Given the description of an element on the screen output the (x, y) to click on. 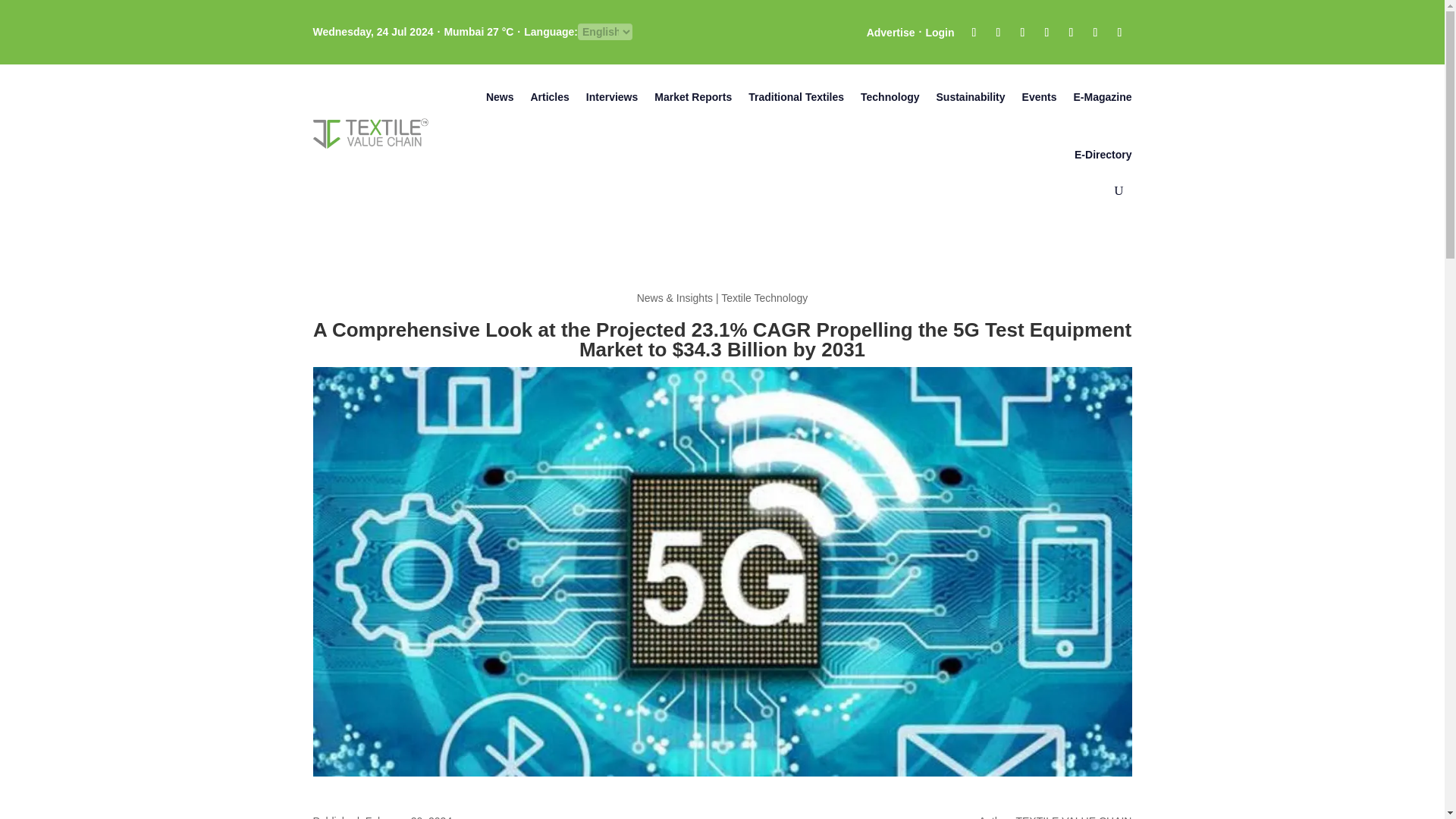
E-Directory (1102, 154)
Follow on Youtube (1070, 32)
Interviews (611, 96)
Follow on WhatsApp (1118, 32)
Follow on Facebook (972, 32)
E-Magazine (1102, 96)
Follow on Instagram (1021, 32)
Market Reports (692, 96)
Follow on LinkedIn (1045, 32)
Follow on X (997, 32)
Sustainability (971, 96)
Technology (890, 96)
Advertise (890, 32)
Login (938, 32)
